Given the description of an element on the screen output the (x, y) to click on. 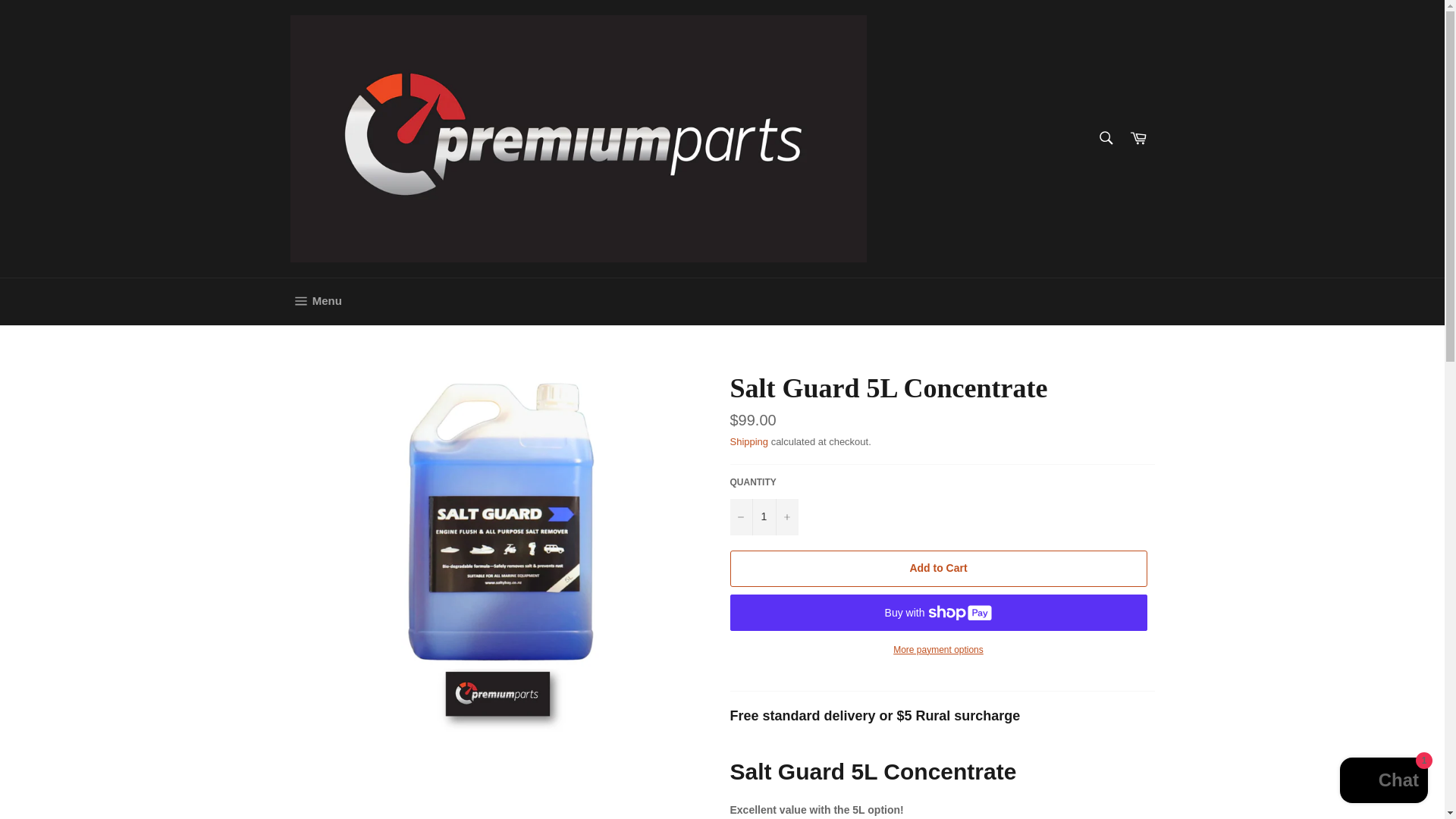
1 (763, 516)
Shopify online store chat (1383, 781)
